Given the description of an element on the screen output the (x, y) to click on. 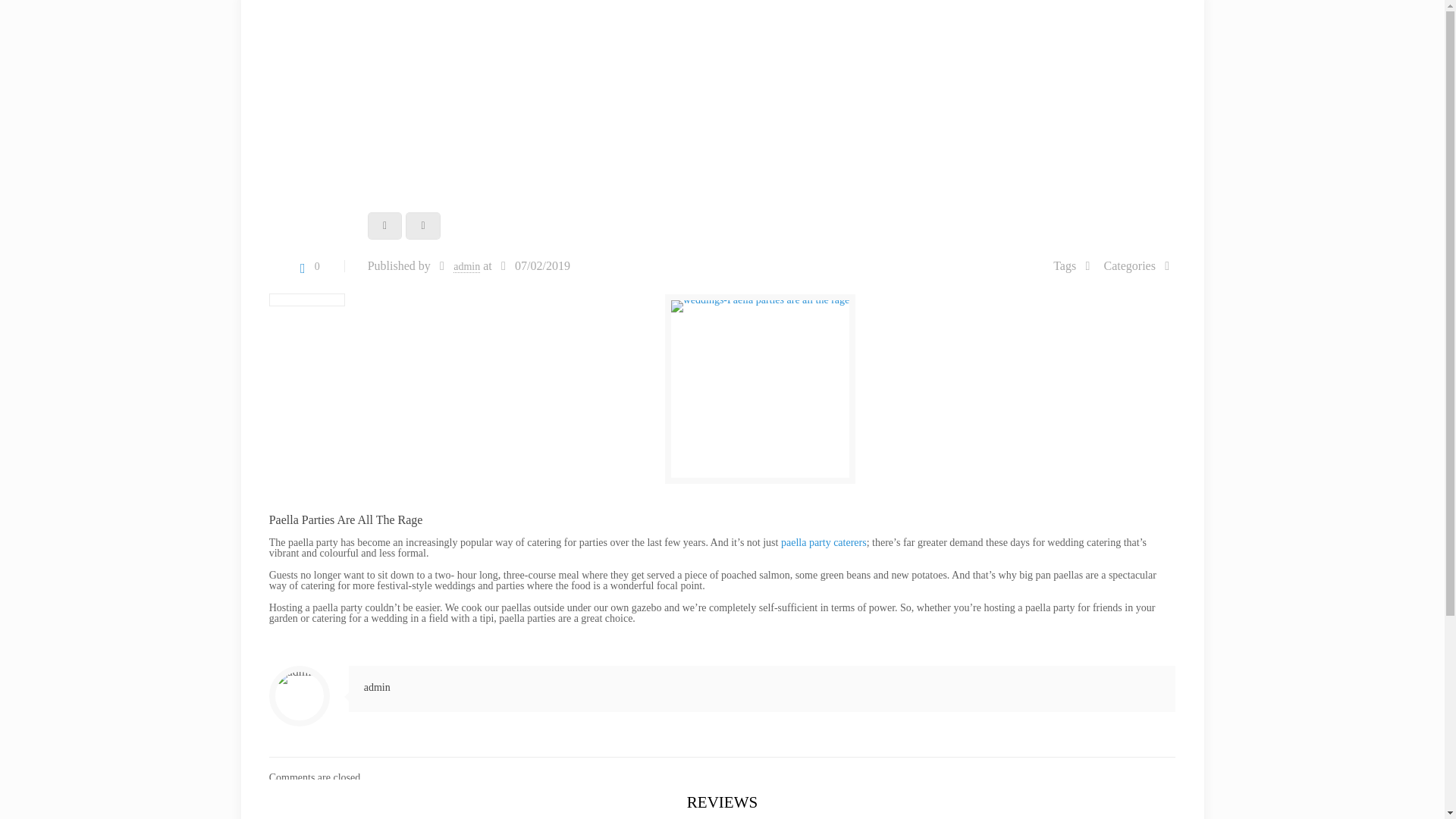
0 (307, 266)
admin (466, 266)
paella party caterers (823, 542)
admin (377, 686)
